Given the description of an element on the screen output the (x, y) to click on. 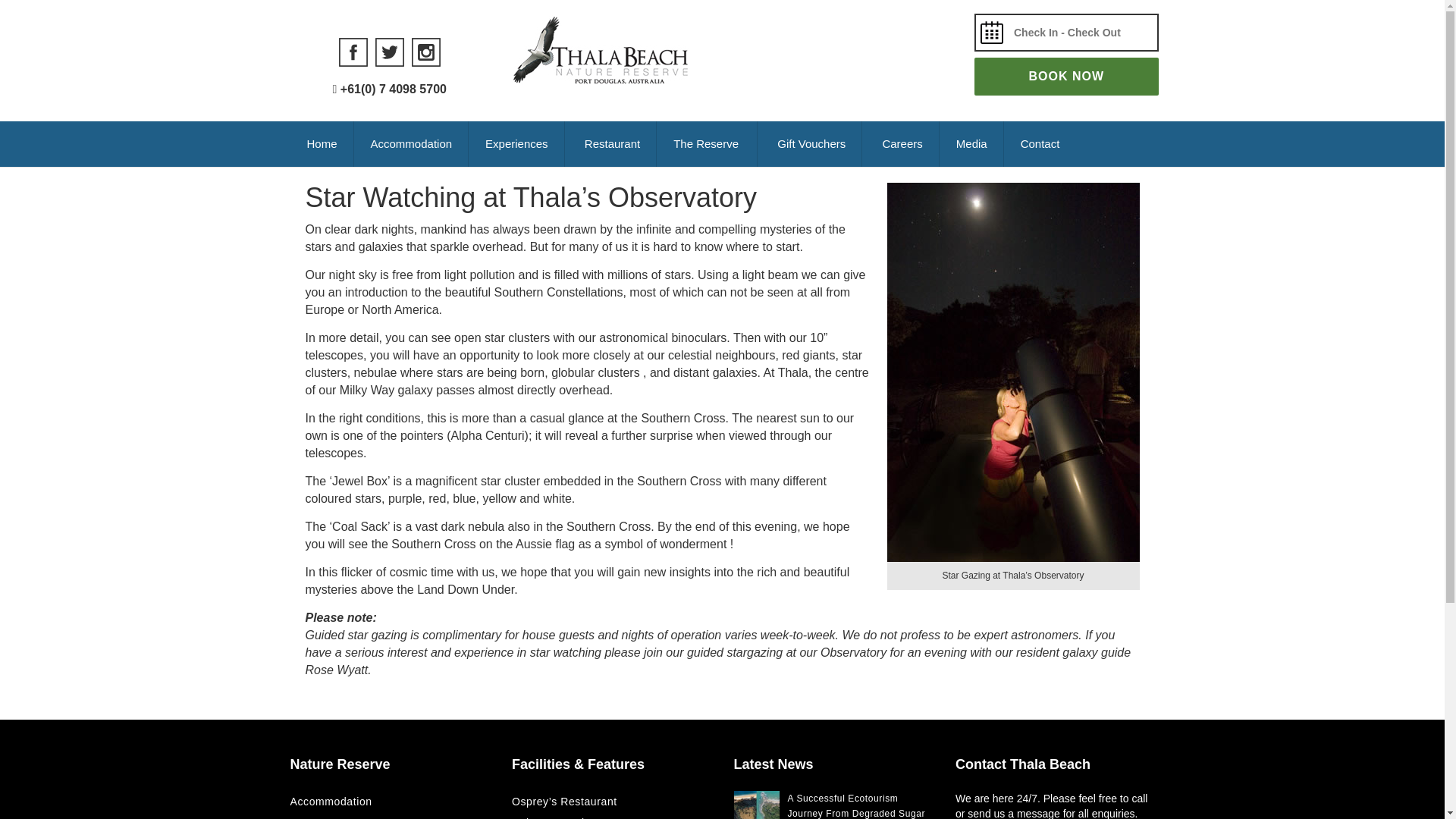
Gift Vouchers (809, 144)
The Reserve (706, 144)
The Reserve (706, 144)
 Careers (900, 144)
 Gift Vouchers (809, 144)
 Restaurant (611, 144)
Experiences (516, 144)
Media (971, 144)
Home (321, 144)
Home (321, 144)
